Given the description of an element on the screen output the (x, y) to click on. 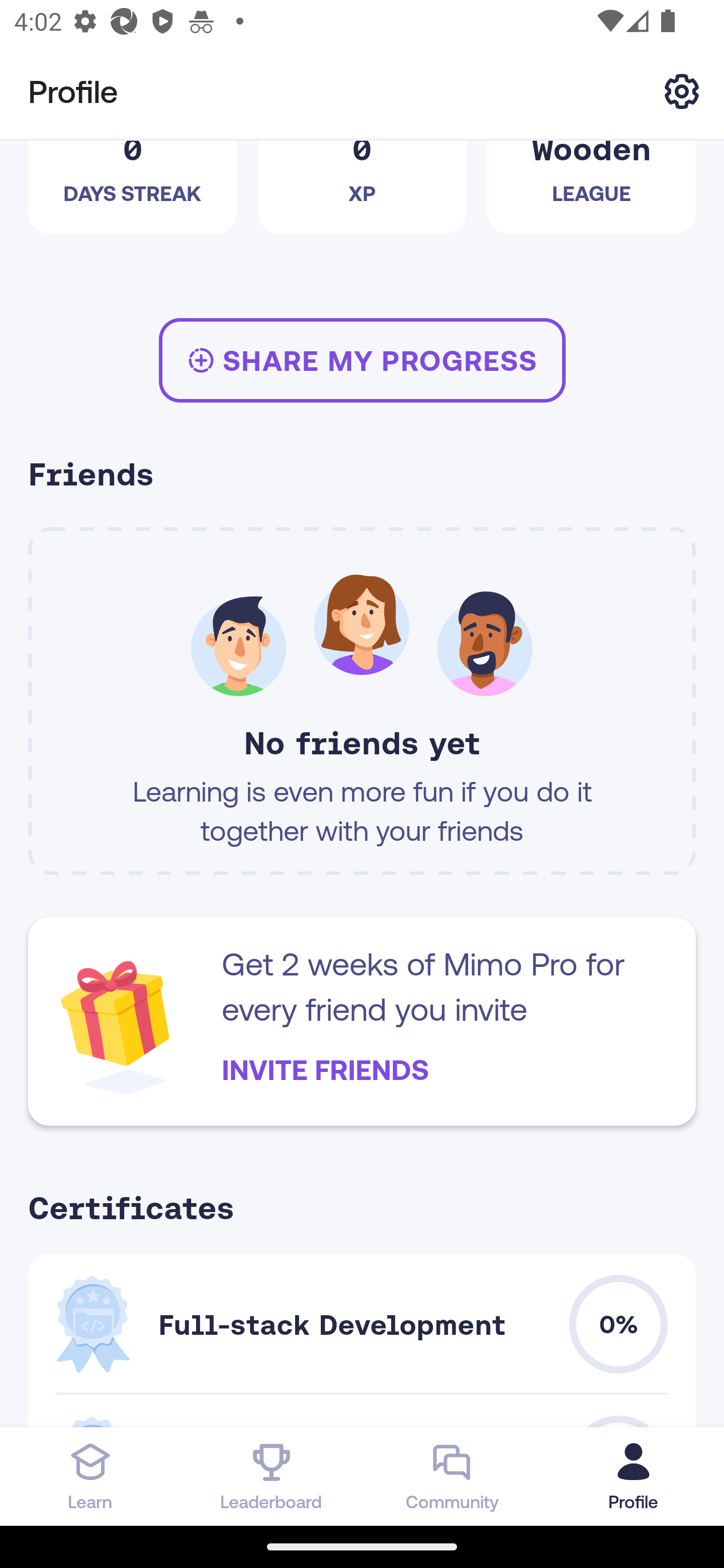
Settings (681, 90)
SHARE MY PROGRESS (361, 360)
Friends (362, 477)
INVITE FRIENDS (325, 1069)
Full-stack Development 0.0 0% (361, 1323)
Learn (90, 1475)
Leaderboard (271, 1475)
Community (452, 1475)
